Given the description of an element on the screen output the (x, y) to click on. 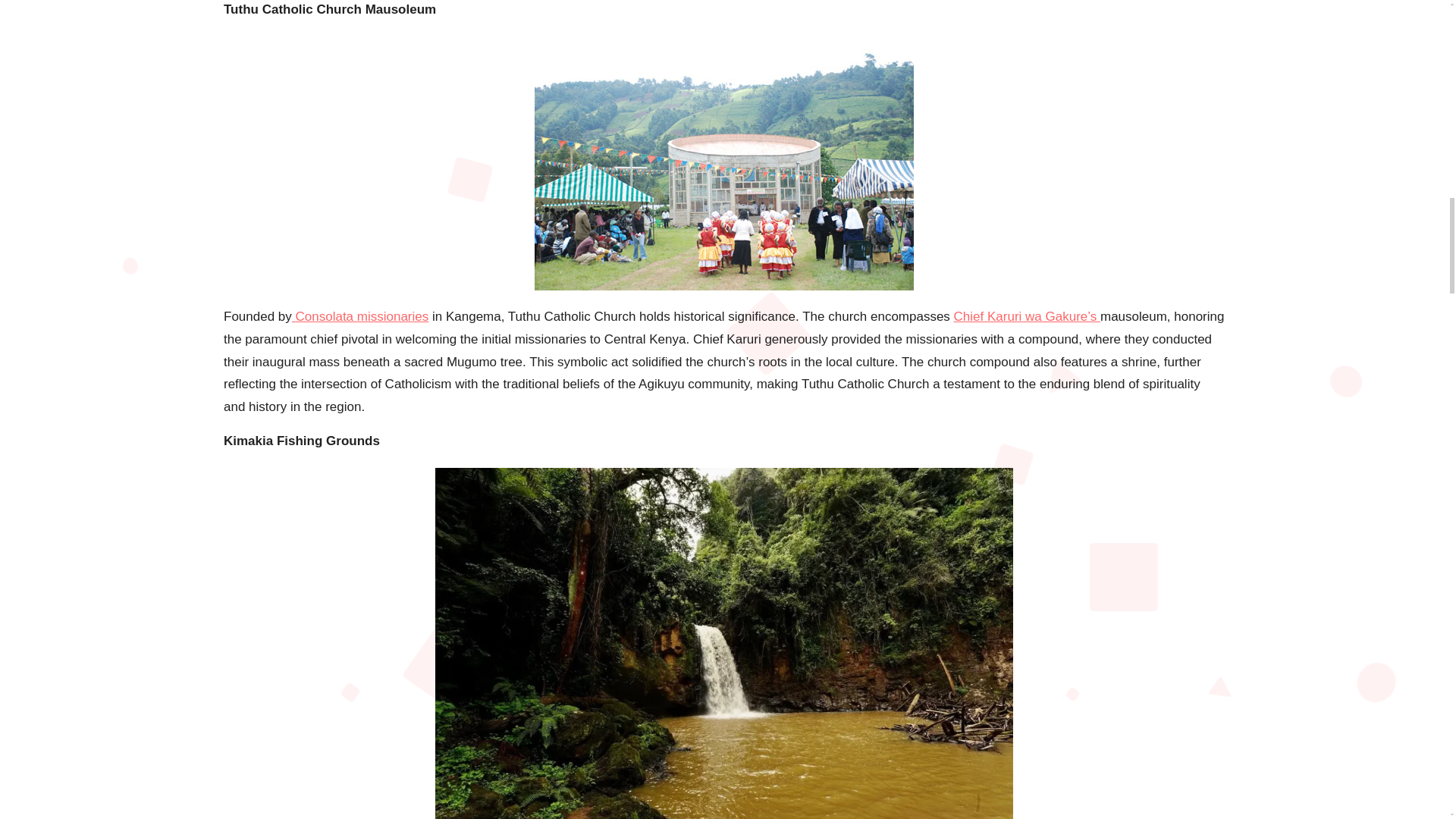
Consolata missionaries (360, 316)
